Given the description of an element on the screen output the (x, y) to click on. 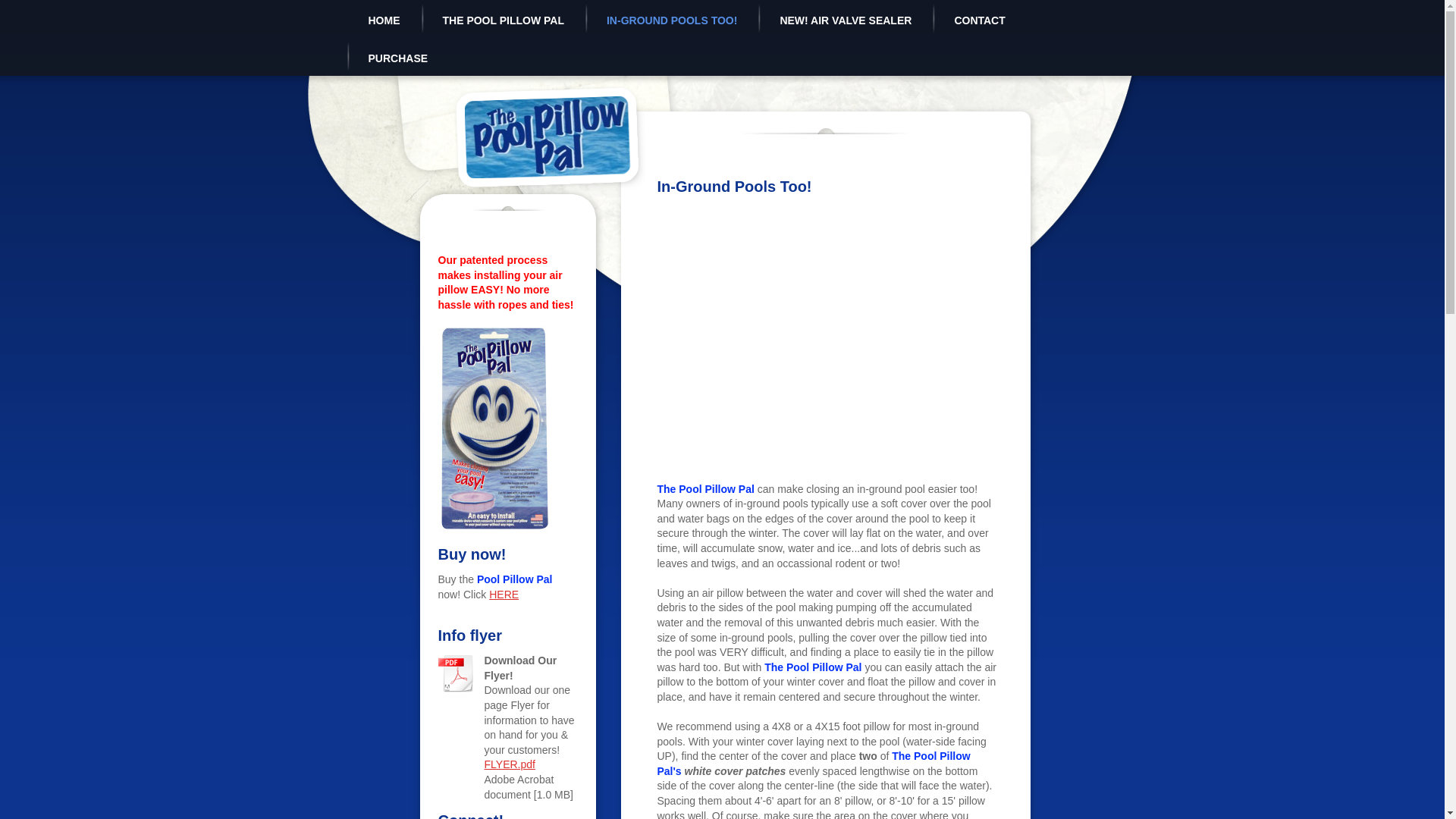
FLYER.pdf (508, 764)
CONTACT (979, 20)
HERE (503, 594)
NEW! AIR VALVE SEALER (845, 20)
IN-GROUND POOLS TOO! (671, 20)
THE POOL PILLOW PAL (503, 20)
HOME (384, 20)
PURCHASE (398, 58)
